Given the description of an element on the screen output the (x, y) to click on. 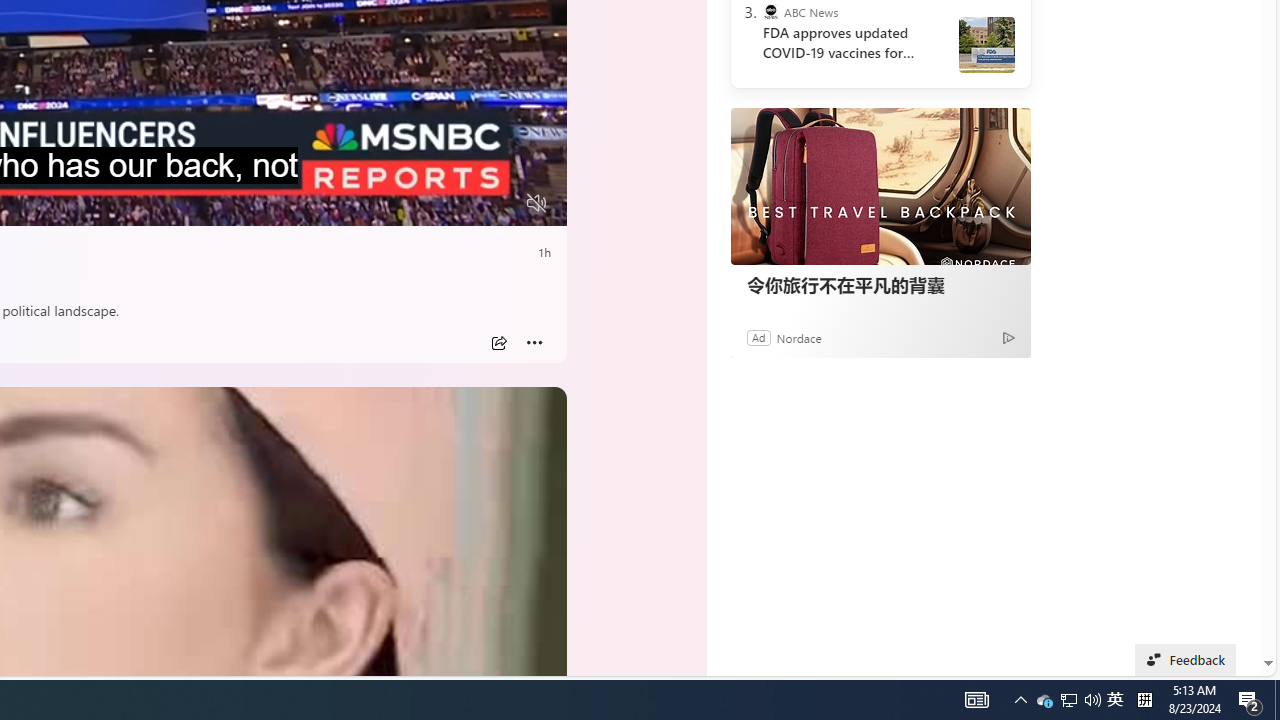
Fullscreen (497, 203)
Class: at-item inline-watch (534, 343)
Quality Settings (418, 203)
More (534, 343)
Share (498, 343)
ABC News (770, 12)
